Given the description of an element on the screen output the (x, y) to click on. 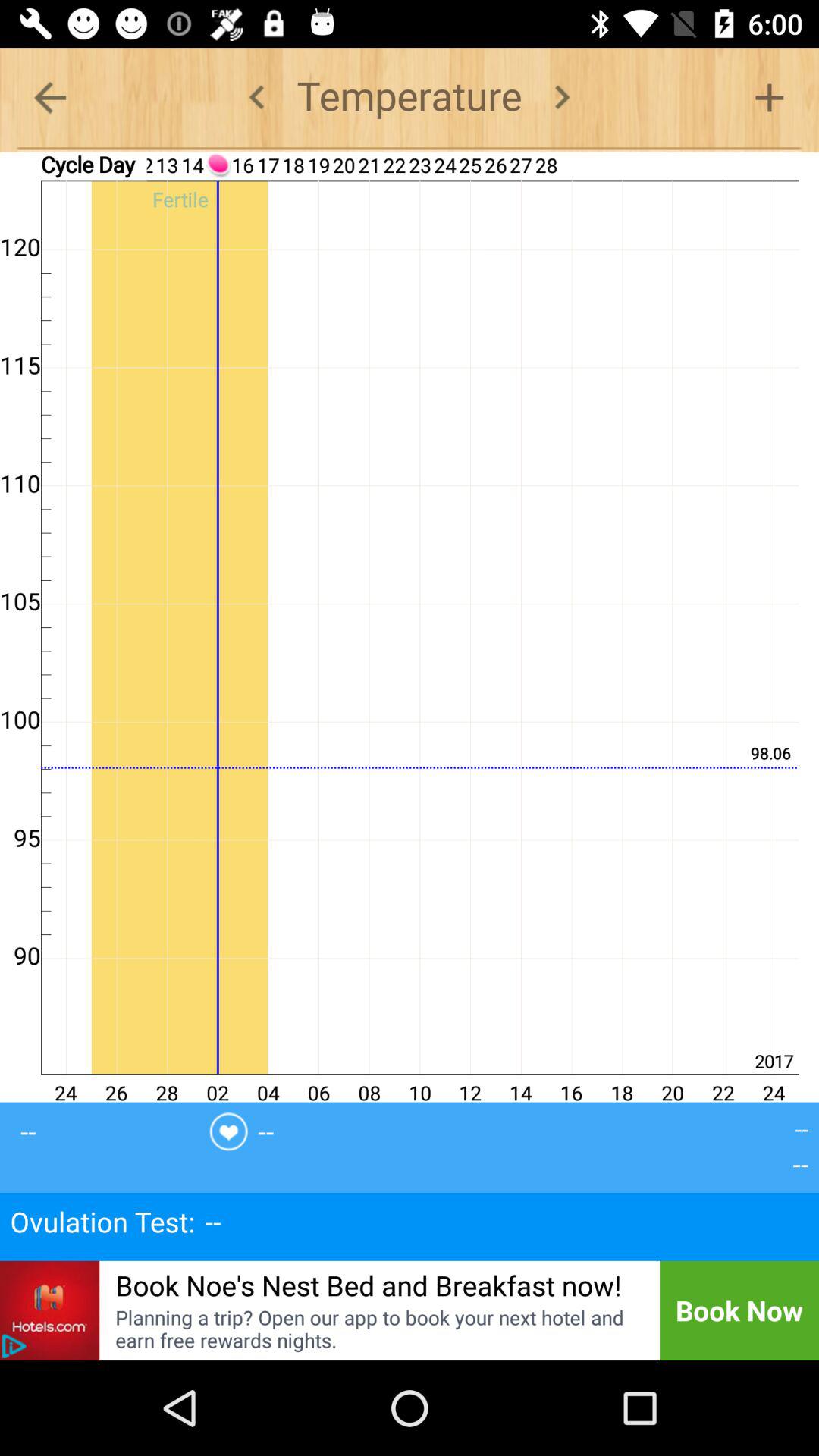
scroll until the book noe s icon (368, 1285)
